Given the description of an element on the screen output the (x, y) to click on. 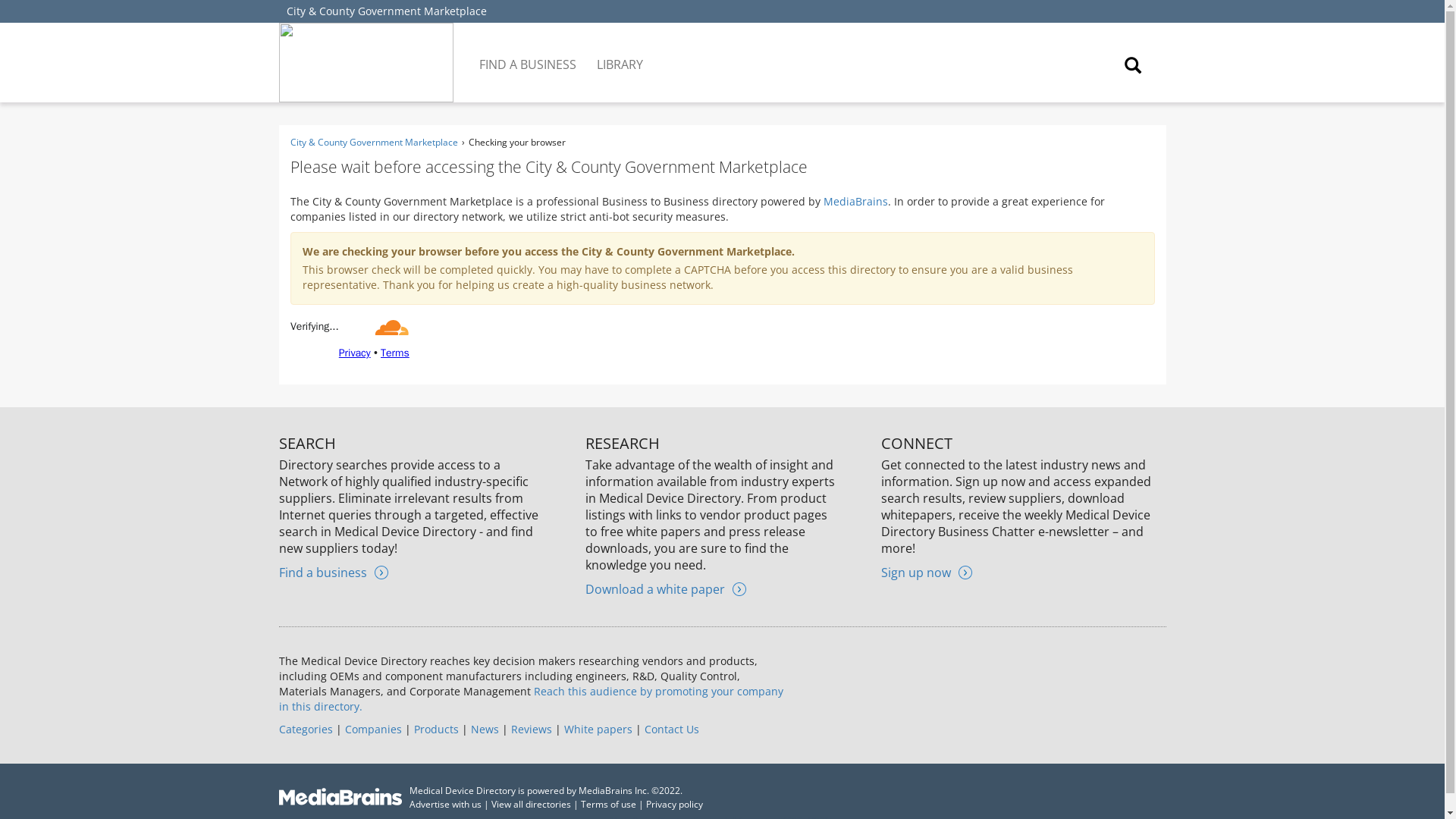
MediaBrains (856, 201)
Download a white paper (665, 588)
Sign up now (926, 572)
Contact Us (671, 728)
Categories (306, 728)
Companies (372, 728)
Find a business (333, 572)
News (483, 728)
Advertise with us (445, 803)
Products (435, 728)
Terms of use (608, 803)
Privacy policy (674, 803)
View all directories (531, 803)
LIBRARY (620, 52)
